Given the description of an element on the screen output the (x, y) to click on. 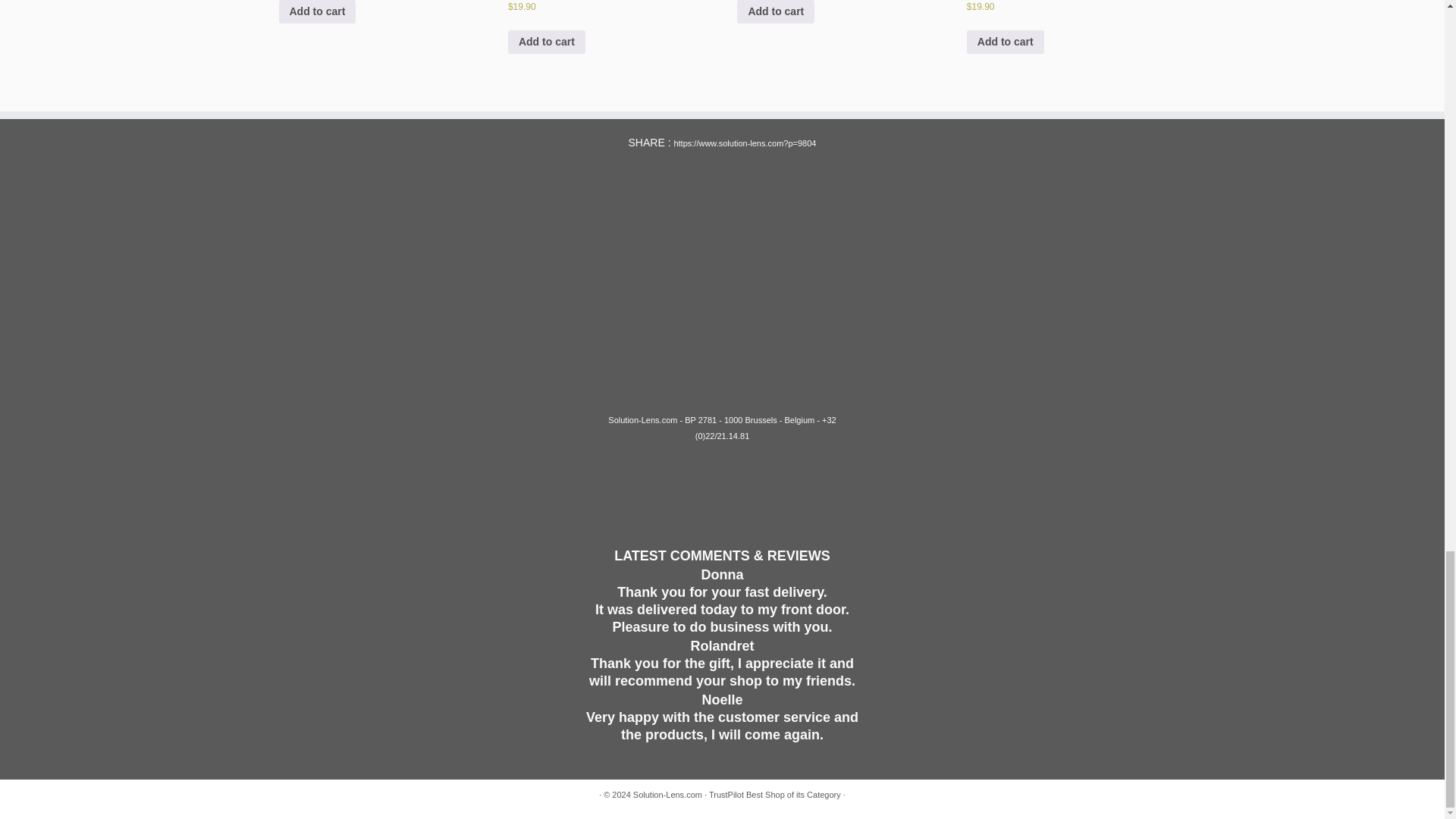
Solution-Lens.com (667, 795)
Buy Now (1024, 189)
Buy Now (418, 189)
